Given the description of an element on the screen output the (x, y) to click on. 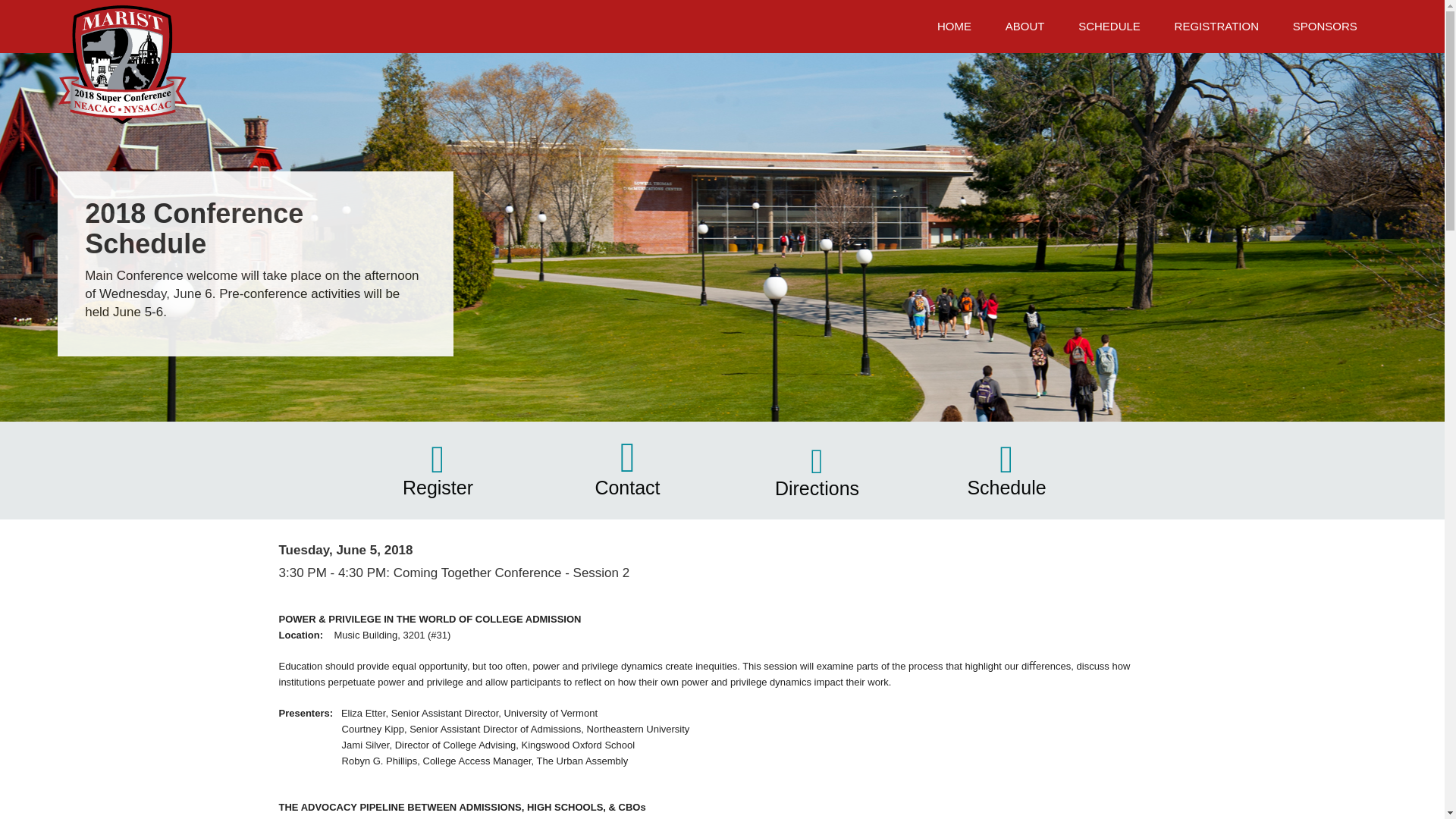
REGISTRATION (1216, 25)
Schedule (1005, 487)
SCHEDULE (1109, 25)
Register (438, 487)
HOME (954, 25)
ABOUT (1025, 25)
SPONSORS (1324, 25)
Directions (816, 488)
Ir a Admissions Super Conference (122, 65)
Contact (626, 487)
